Given the description of an element on the screen output the (x, y) to click on. 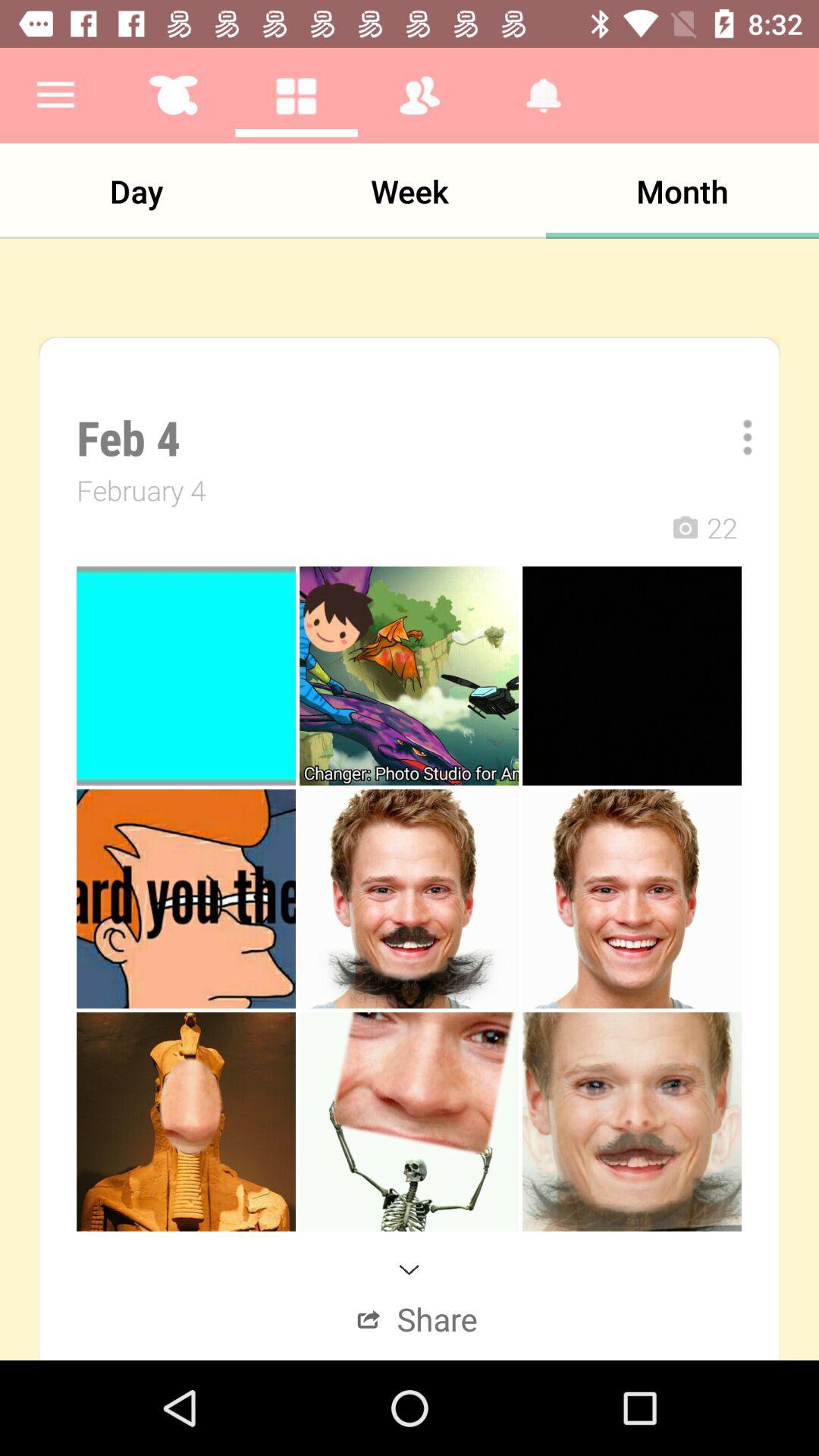
choose the item next to week icon (136, 190)
